Given the description of an element on the screen output the (x, y) to click on. 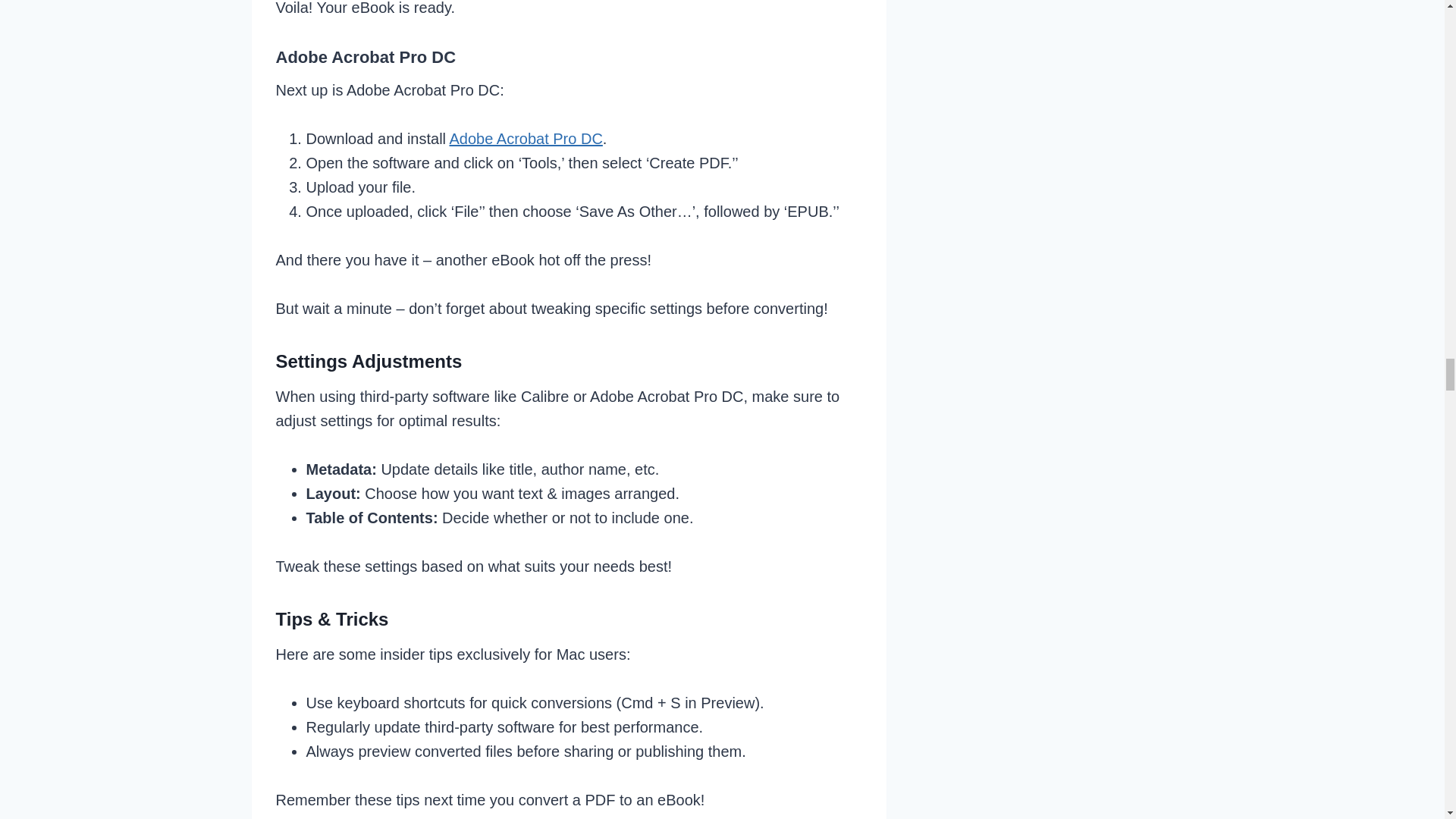
Adobe Acrobat Pro DC (525, 138)
